Given the description of an element on the screen output the (x, y) to click on. 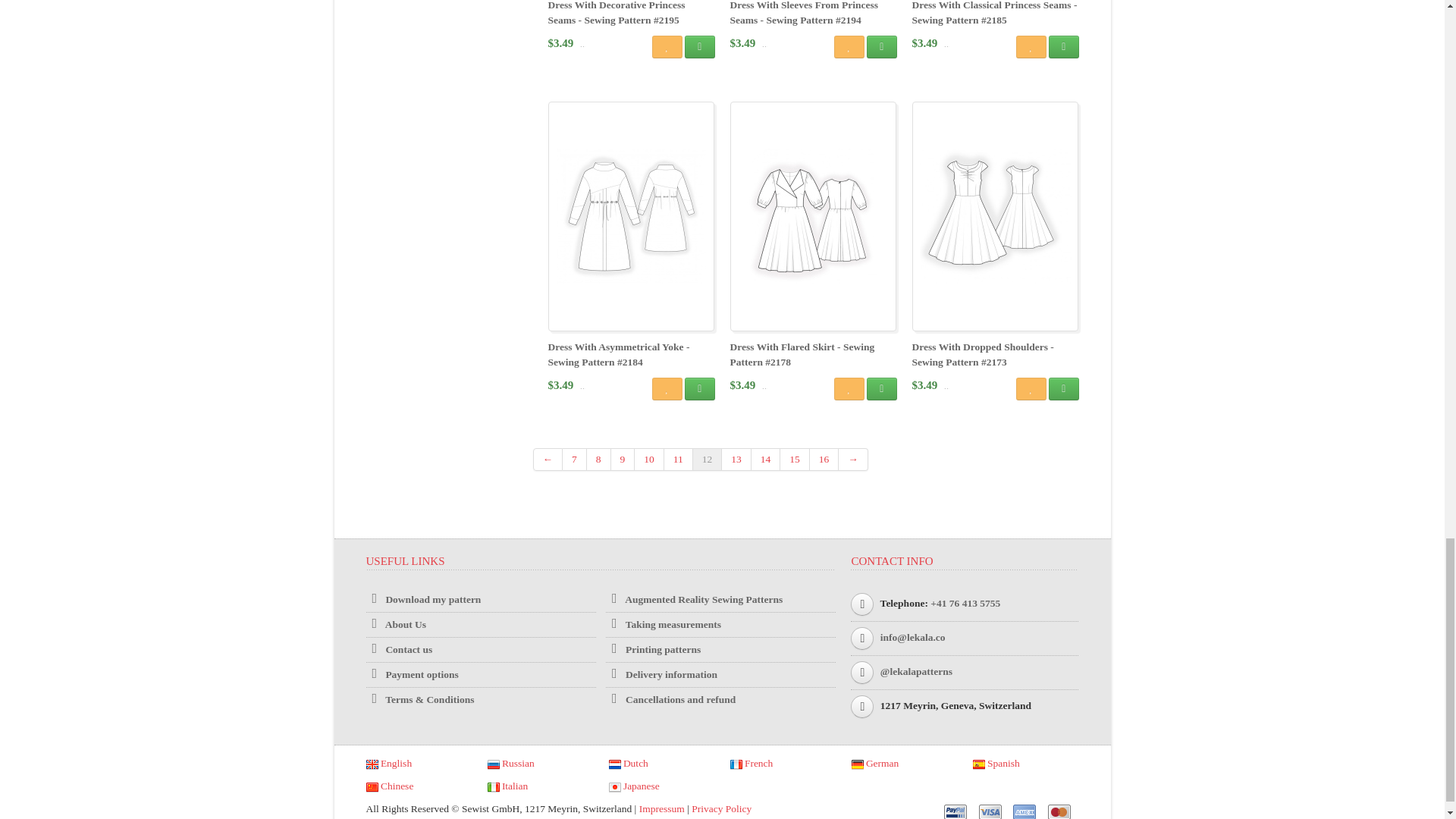
German (874, 763)
Dutch (627, 763)
Russian (510, 763)
Chinese (389, 785)
Japanese (633, 785)
Italian (506, 785)
French (751, 763)
English (388, 763)
Spanish (995, 763)
